Given the description of an element on the screen output the (x, y) to click on. 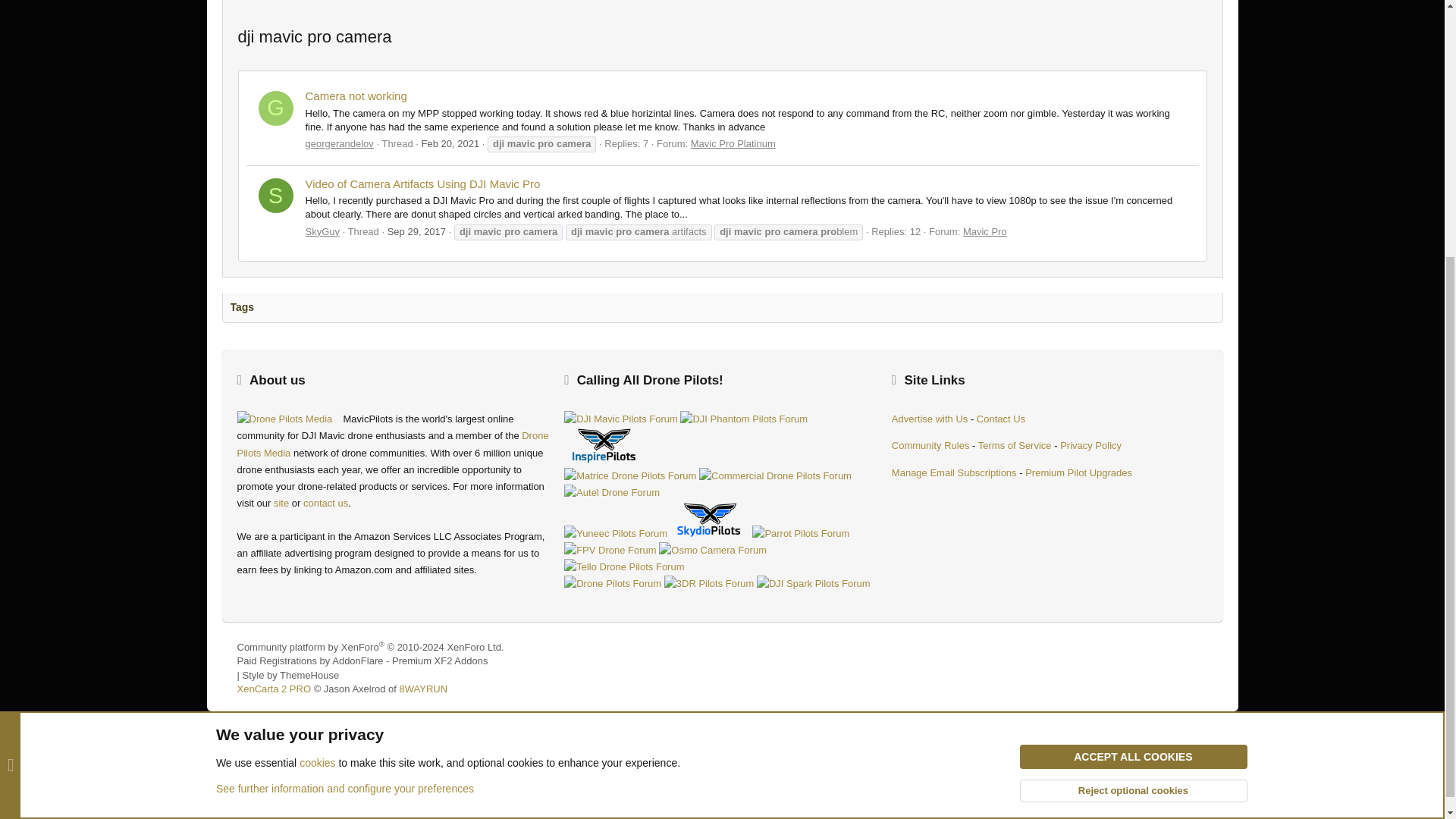
Drone Racing Pilots (610, 550)
Yuneec Pilots Forum (615, 533)
Matrice Drone Pilots Community (629, 475)
DronePilotsMedia Logo (288, 419)
Tello Drone Pilots Forum (624, 566)
Drone Pilots Community (612, 583)
Osmo Camera Community (713, 550)
Feb 20, 2021 at 12:19 PM (451, 143)
DJI Mavic Pilots (621, 419)
Commercial Drone Pilots (774, 475)
Parrot Pilots (800, 533)
DJI inspire Pilots (603, 444)
AutelPilots Drone Community (611, 492)
DJI Phantom Pilots (743, 419)
Skydio Community (709, 519)
